Given the description of an element on the screen output the (x, y) to click on. 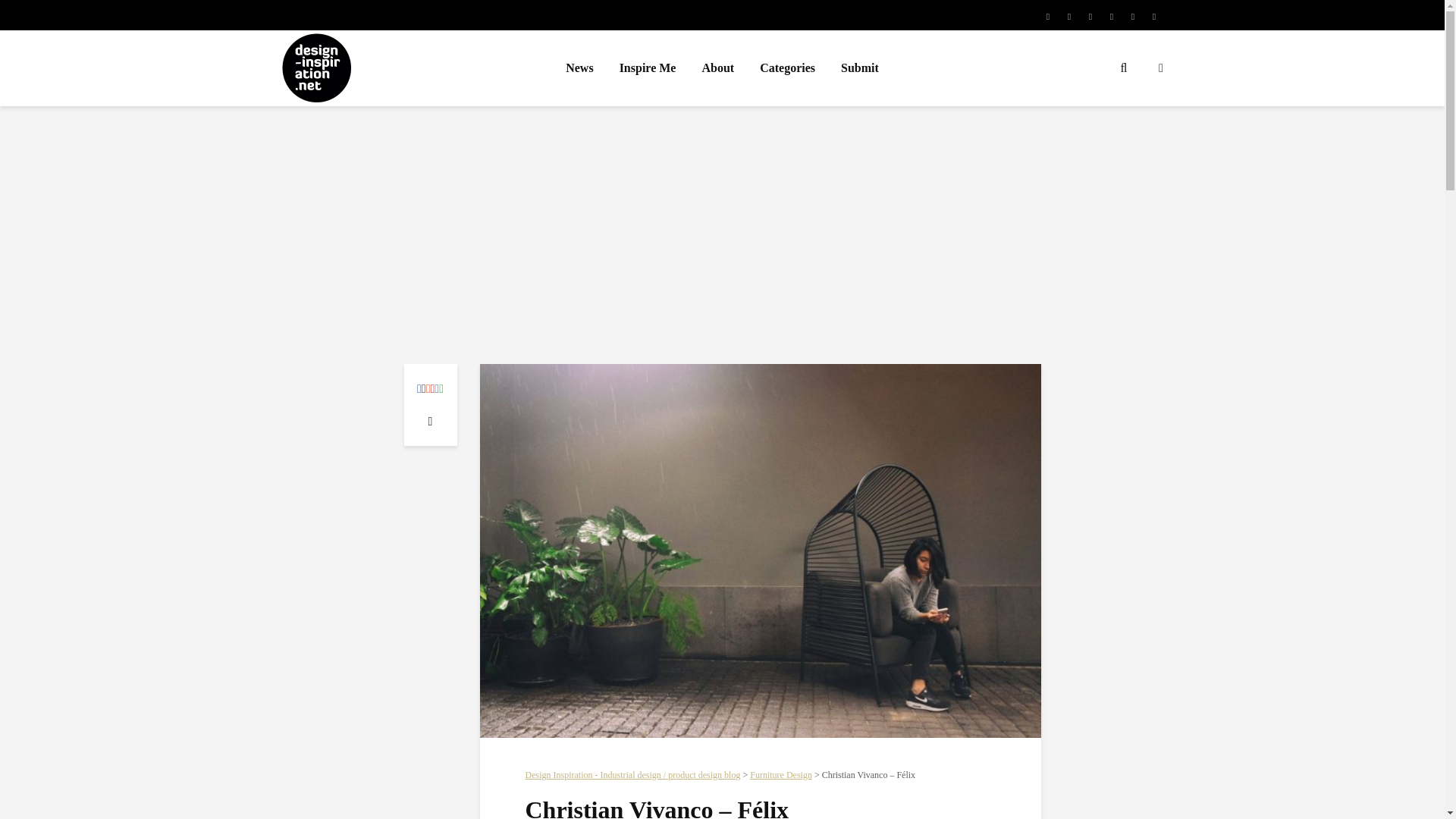
Go to the Furniture Design category archives. (780, 774)
News (579, 68)
About (717, 68)
Categories (787, 68)
Submit (859, 68)
Inspire Me (647, 68)
